Given the description of an element on the screen output the (x, y) to click on. 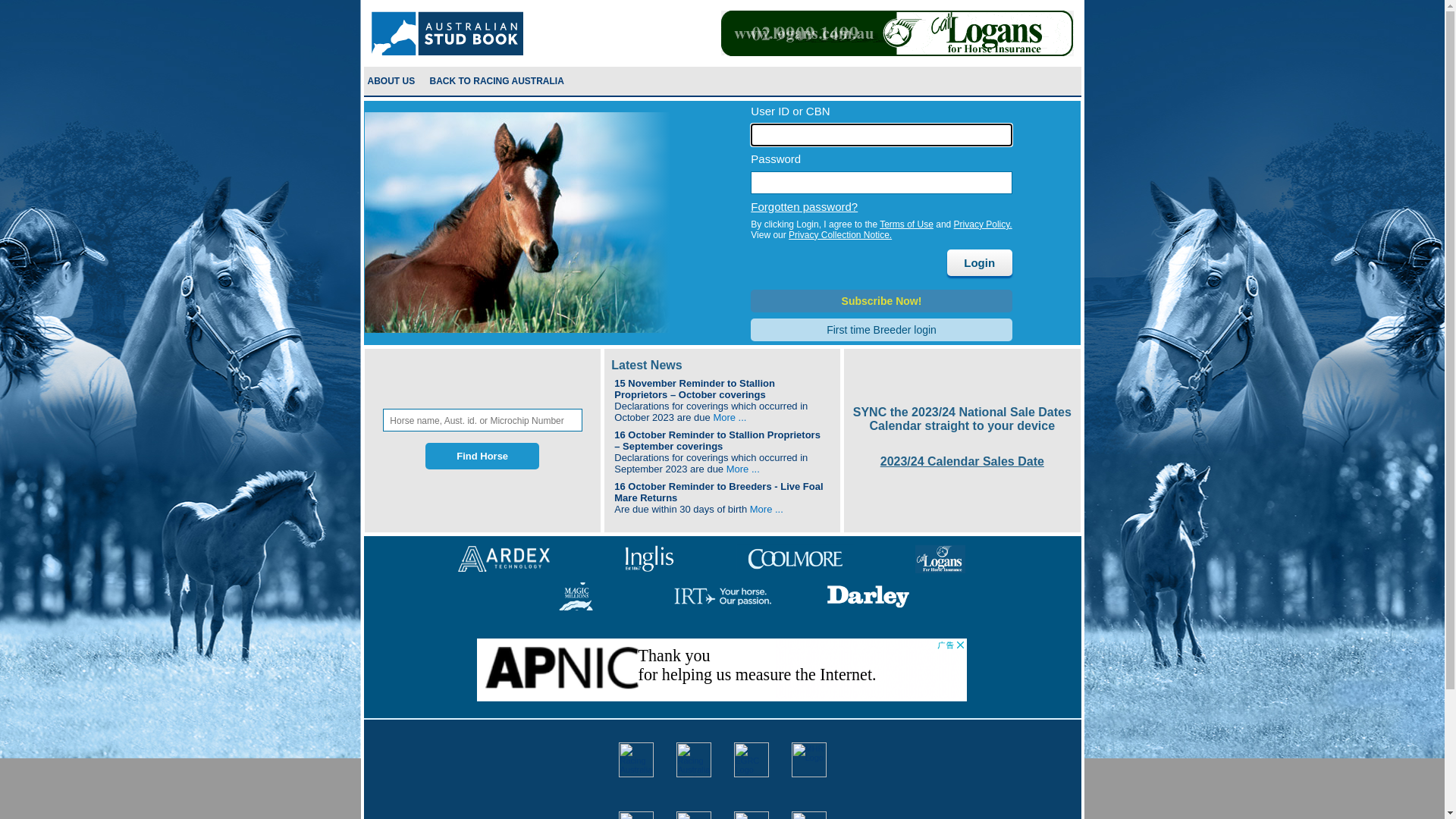
Magic-Millions Element type: hover (576, 596)
Advertisement Element type: hover (721, 672)
Back to Racing Australia Element type: text (498, 81)
MHR Element type: hover (808, 759)
Darley Element type: hover (867, 596)
Forgotten password? Element type: text (803, 206)
Find Horse Element type: text (482, 455)
Racing Australia Element type: hover (447, 33)
Australian Stud Book Element type: hover (693, 759)
More ... Element type: text (742, 468)
ABOUT US Element type: text (390, 80)
Login Element type: text (979, 262)
IRT Element type: hover (721, 596)
2023/24 Calendar Sales Date Element type: text (962, 461)
EGRC Element type: hover (751, 759)
More ... Element type: text (729, 417)
Subscribe Now! Element type: text (880, 300)
Logans Element type: hover (940, 558)
Racing Australia Element type: hover (635, 759)
Inglis Element type: hover (649, 557)
Ardex Technology Element type: hover (503, 557)
Privacy Collection Notice. Element type: text (839, 234)
Privacy Policy. Element type: text (982, 224)
More ... Element type: text (766, 508)
Coolmore Element type: hover (794, 558)
First time Breeder login Element type: text (880, 329)
Terms of Use Element type: text (906, 224)
